Given the description of an element on the screen output the (x, y) to click on. 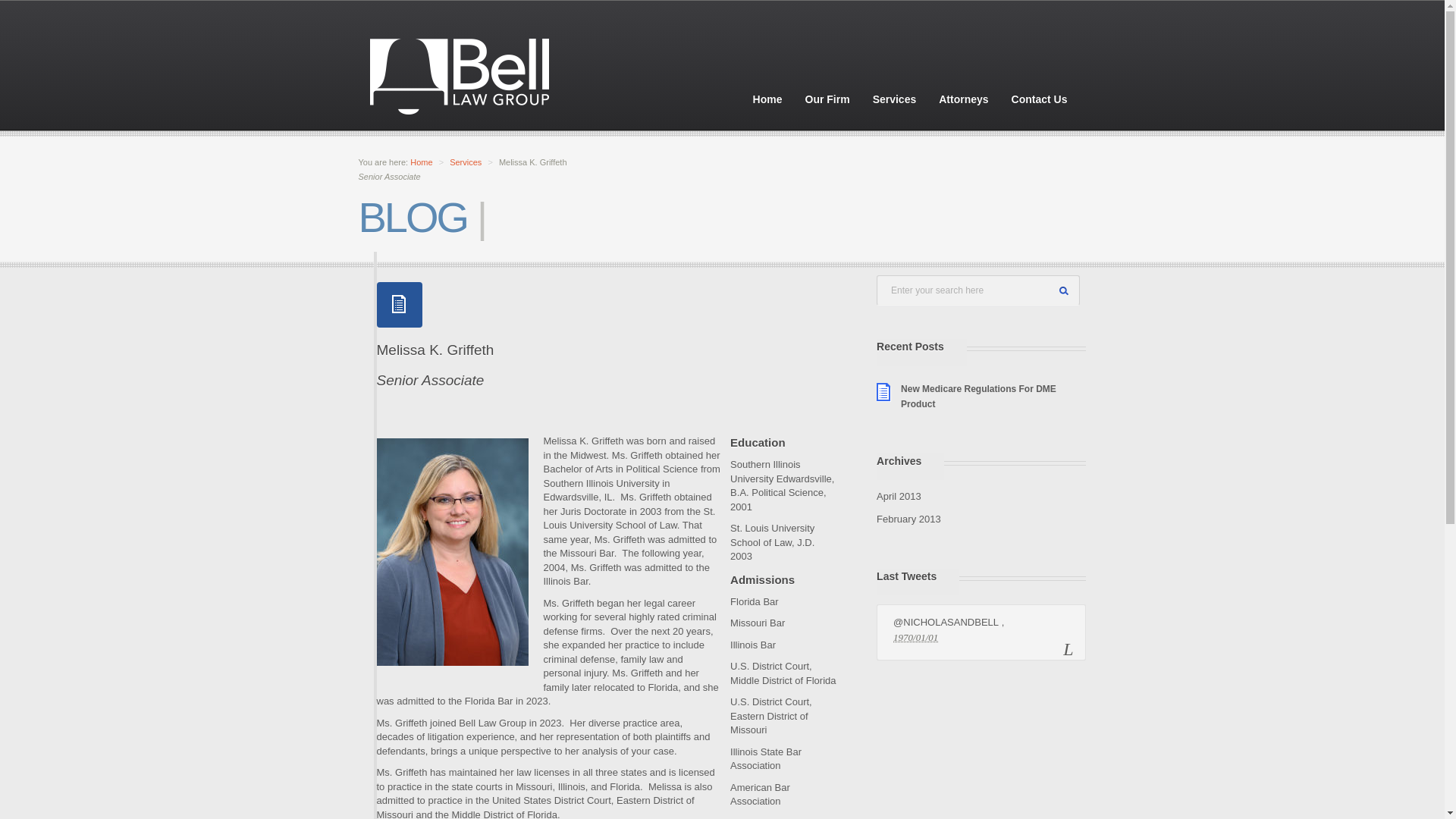
Attorneys (962, 99)
Bell Law group (458, 76)
New Medicare Regulations For DME Product (979, 396)
Home (421, 162)
Enter your search here (978, 290)
Services (894, 99)
Contact Us (1039, 99)
February 2013 (908, 518)
Our Firm (826, 99)
